Given the description of an element on the screen output the (x, y) to click on. 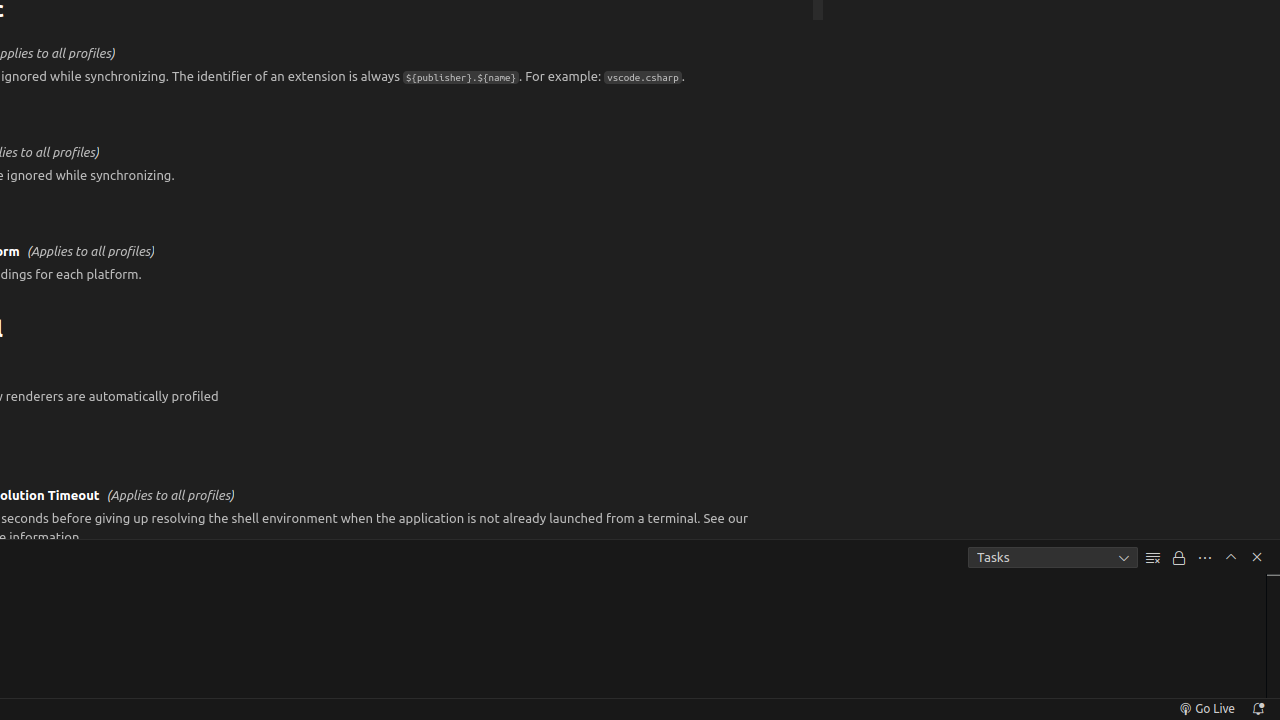
Clear Output Element type: push-button (1153, 557)
Turn Auto Scrolling Off Element type: check-box (1179, 557)
Notifications Element type: push-button (1258, 709)
